Given the description of an element on the screen output the (x, y) to click on. 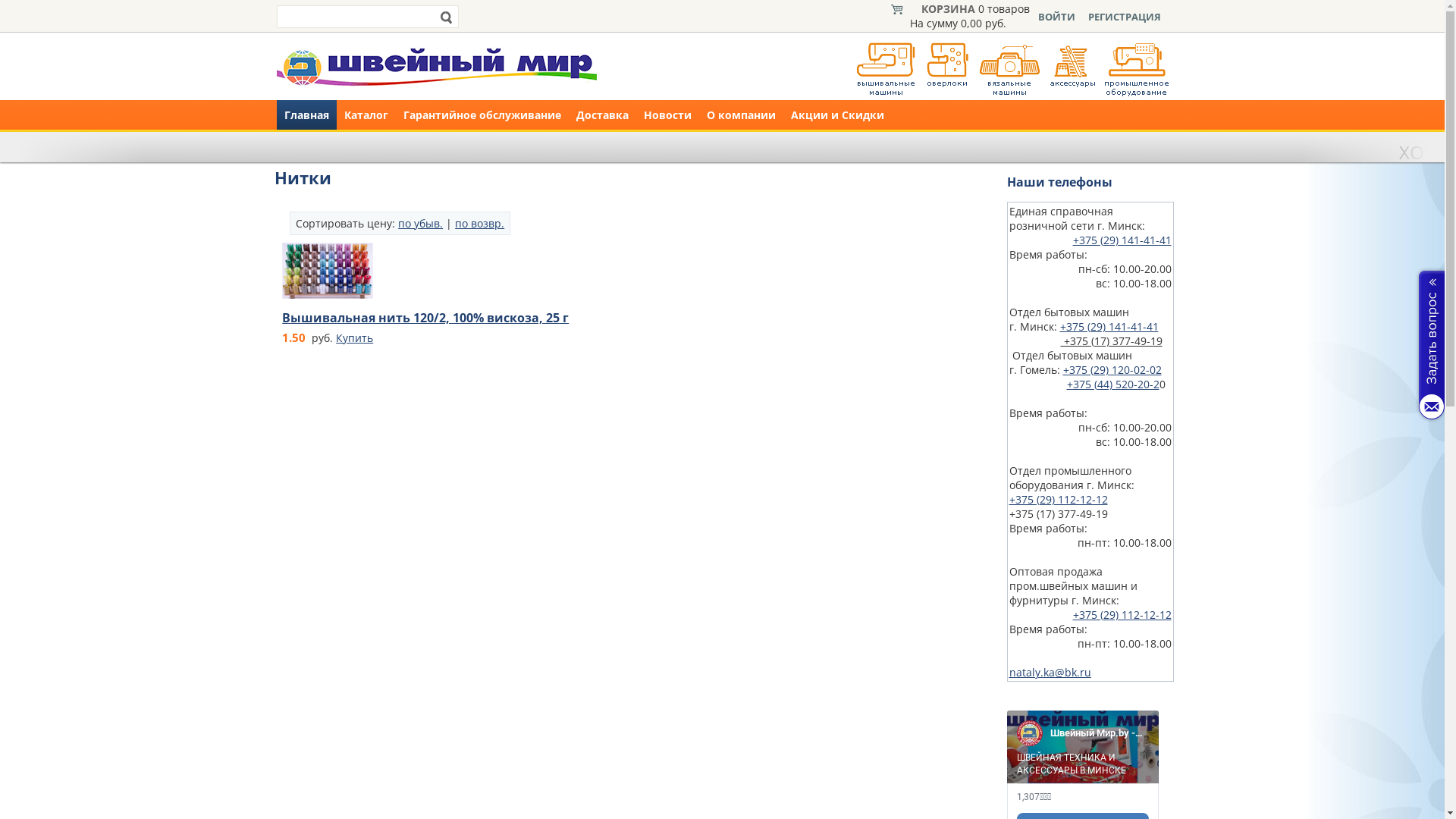
+375 (29) 112-12-12 Element type: text (1057, 499)
+375 (29) 141-41-41 Element type: text (1109, 326)
nataly.ka@bk.ru Element type: text (1049, 672)
+375 (29) 112-12-12 Element type: text (1121, 614)
+375 (44) 520-20-2 Element type: text (1112, 383)
+375 (29) 120-02-02 Element type: text (1112, 369)
+375 (29) 141-41-41 Element type: text (1121, 239)
